Given the description of an element on the screen output the (x, y) to click on. 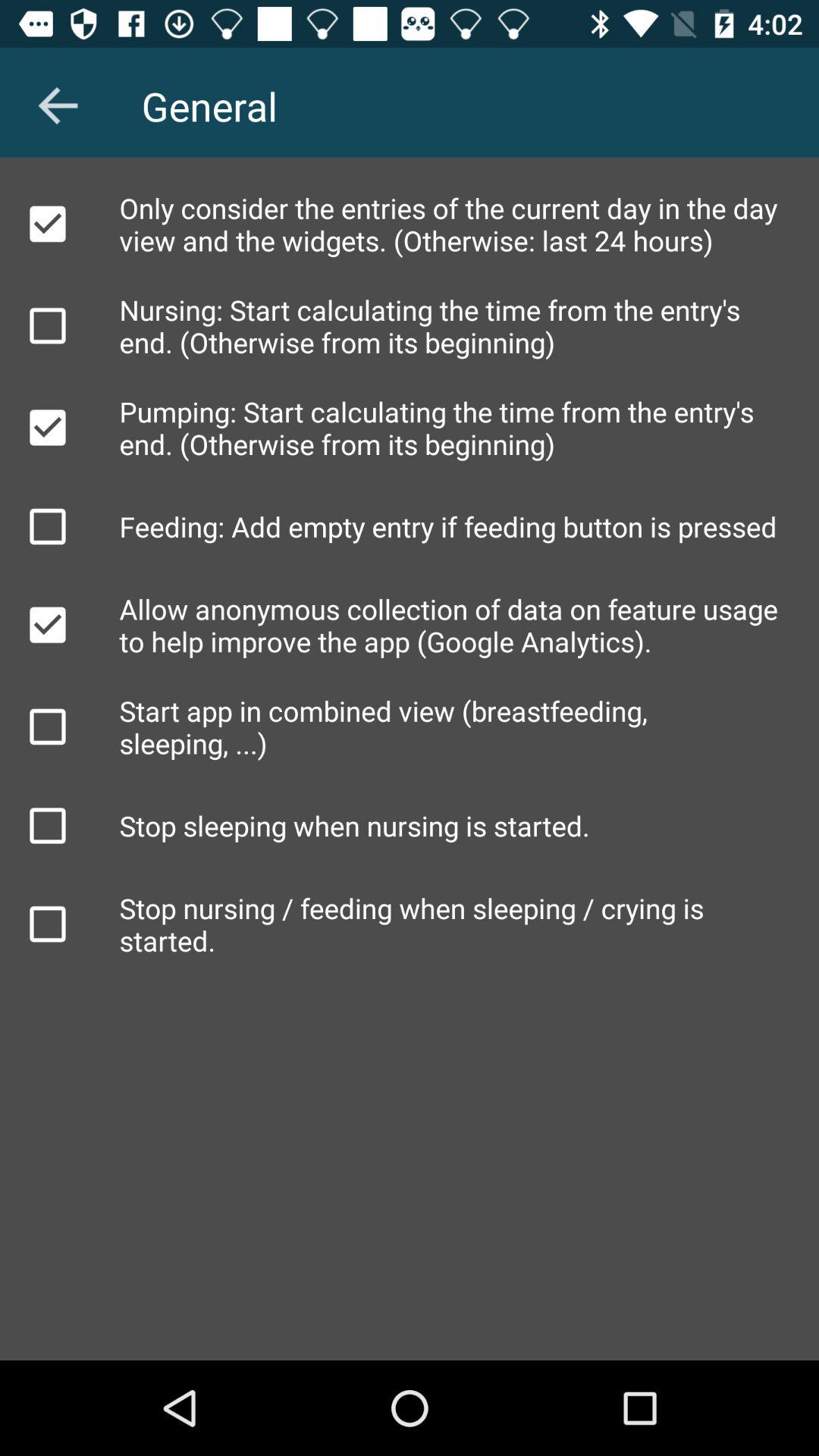
function checkbox (47, 427)
